Given the description of an element on the screen output the (x, y) to click on. 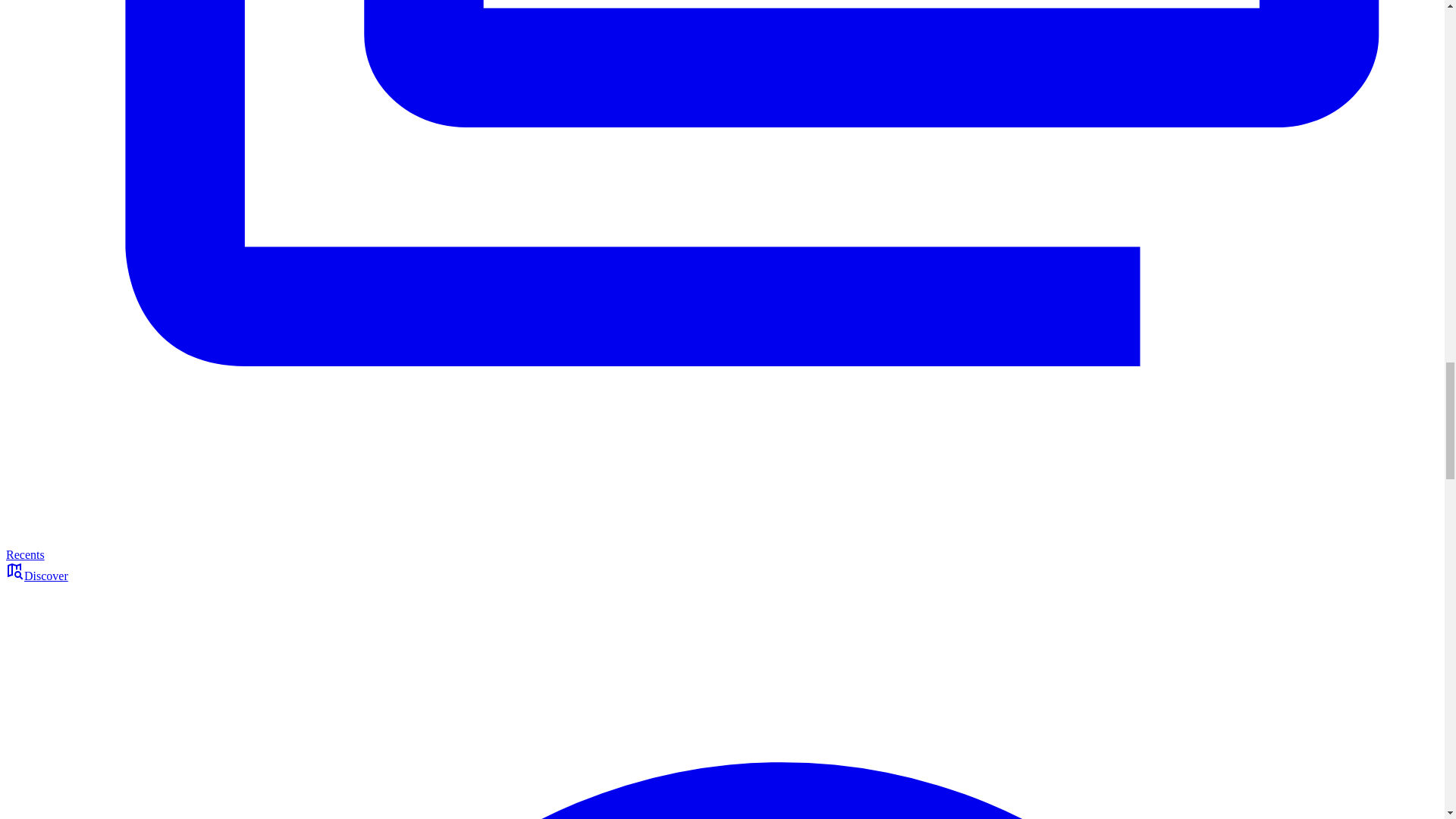
Discover (36, 575)
